Given the description of an element on the screen output the (x, y) to click on. 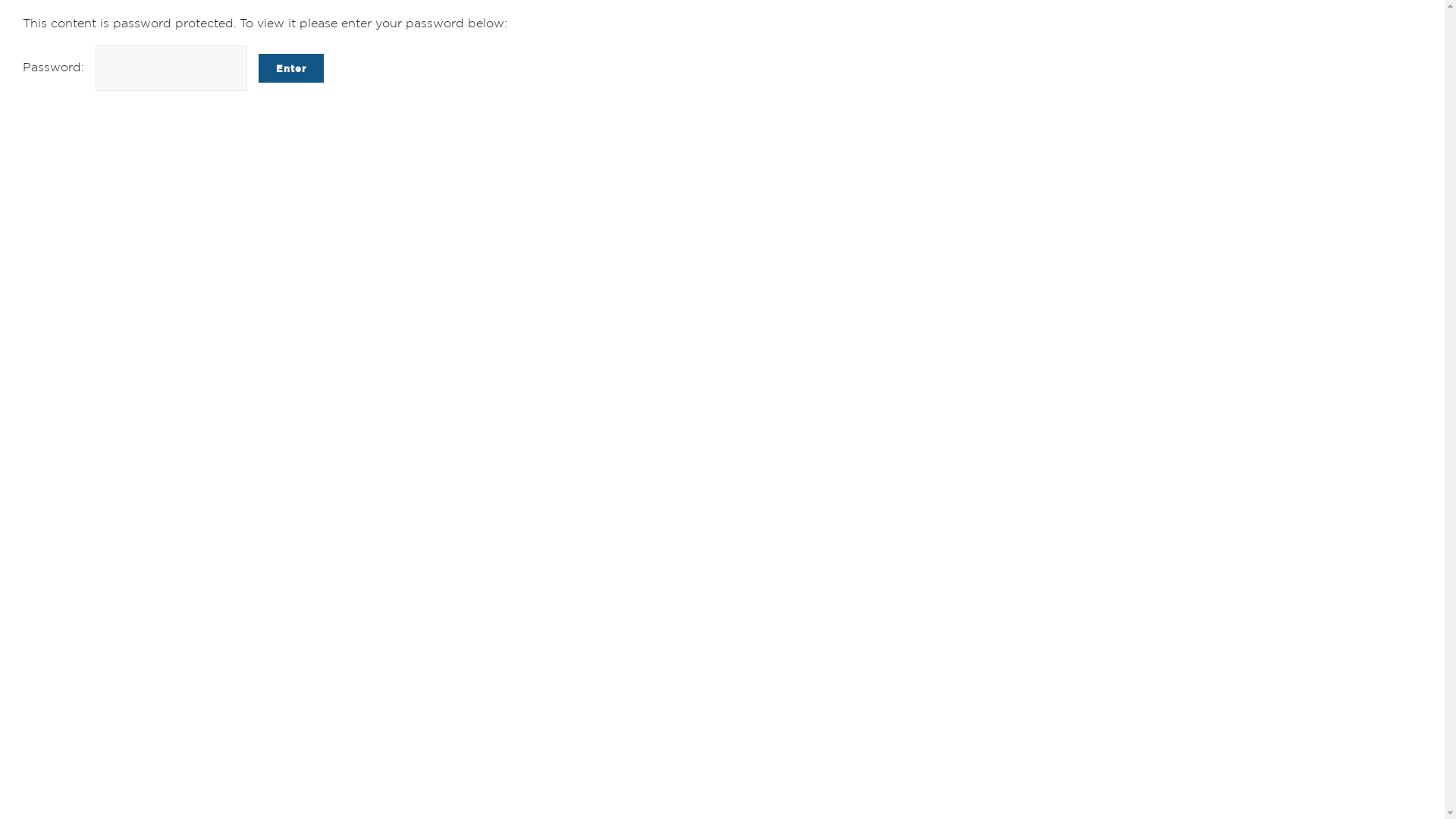
Enter Element type: text (290, 67)
